Given the description of an element on the screen output the (x, y) to click on. 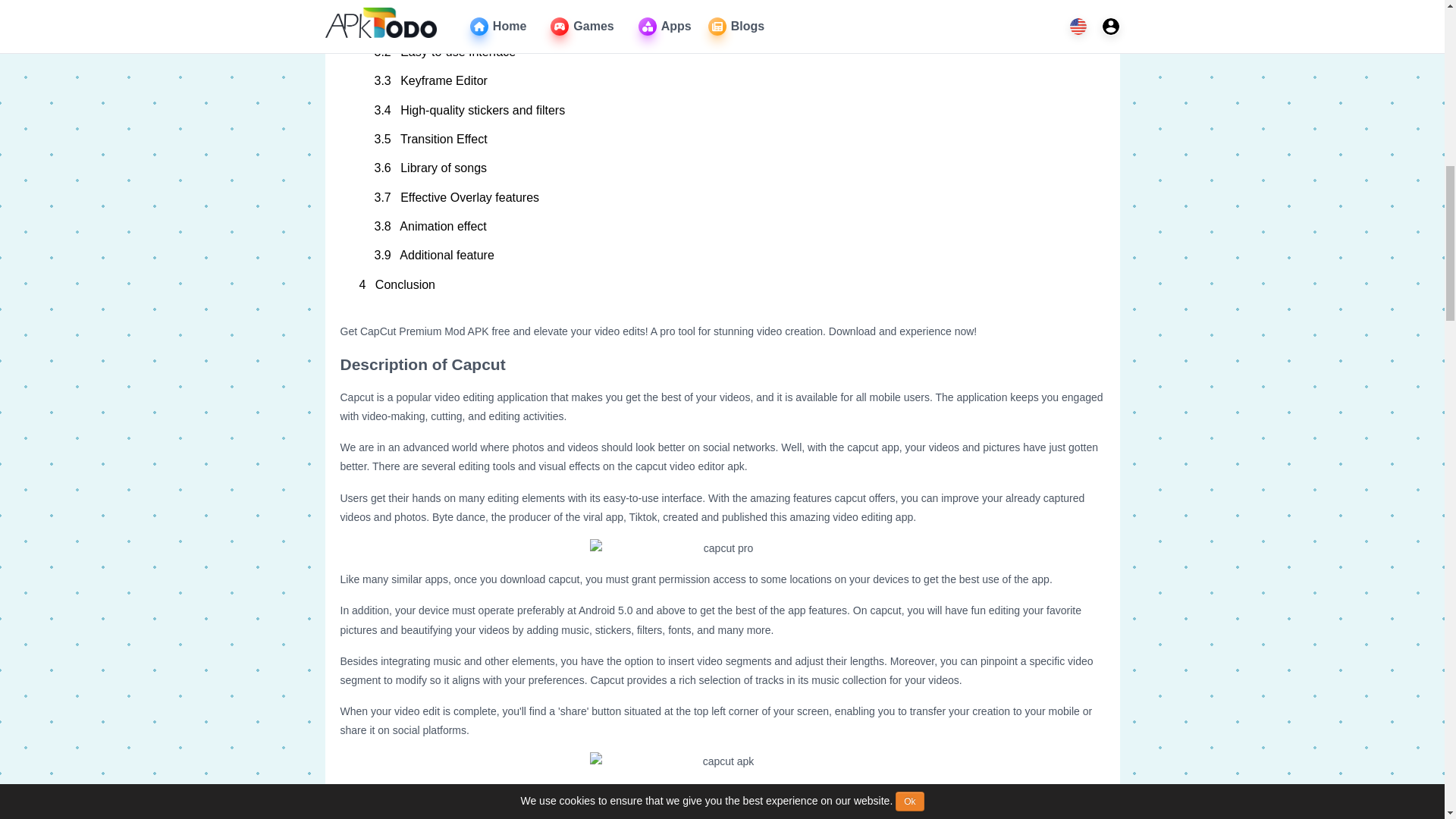
3.3 Keyframe Editor (730, 80)
3.8 Animation effect (730, 226)
3.9 Additional feature (730, 255)
3.7 Effective Overlay features (730, 197)
3.2 Easy-to-use Interface (730, 51)
3.6 Library of songs (730, 167)
3.5 Transition Effect (730, 139)
3.4 High-quality stickers and filters (730, 110)
3 Features of Capcut (722, 4)
4 Conclusion (722, 285)
3.1 Beautiful Video Templates (730, 22)
